Given the description of an element on the screen output the (x, y) to click on. 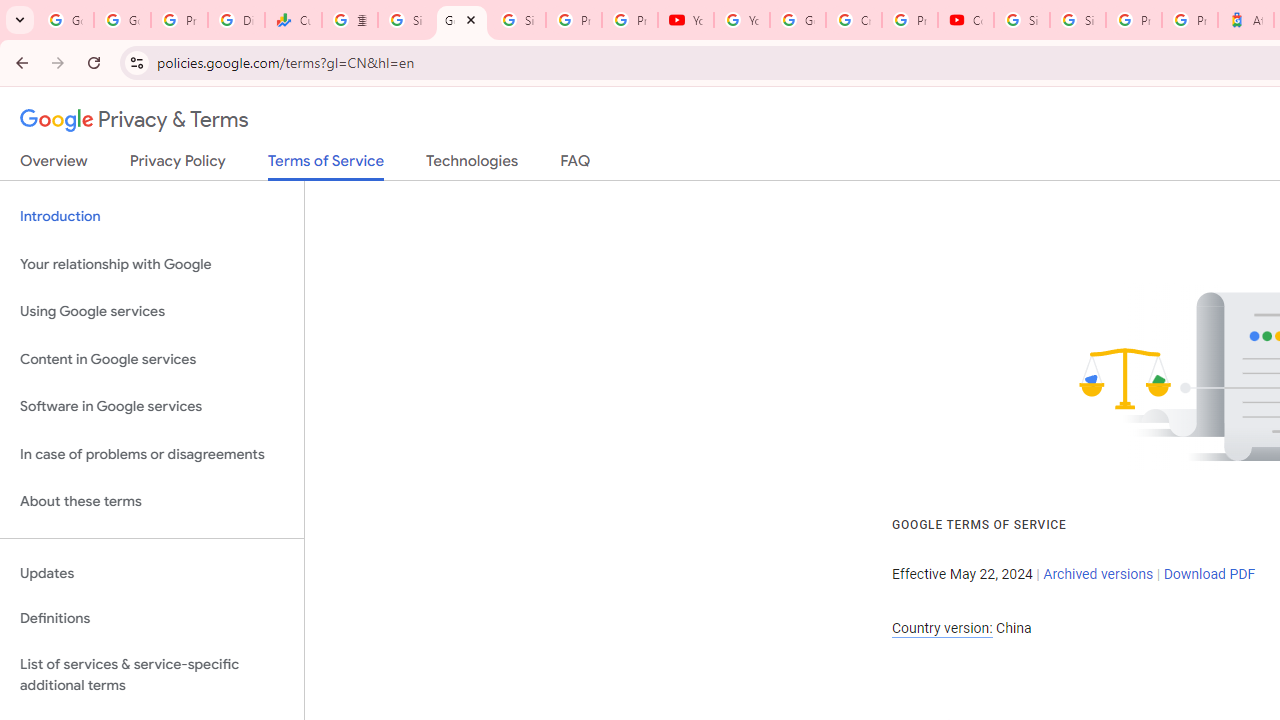
Create your Google Account (853, 20)
